Given the description of an element on the screen output the (x, y) to click on. 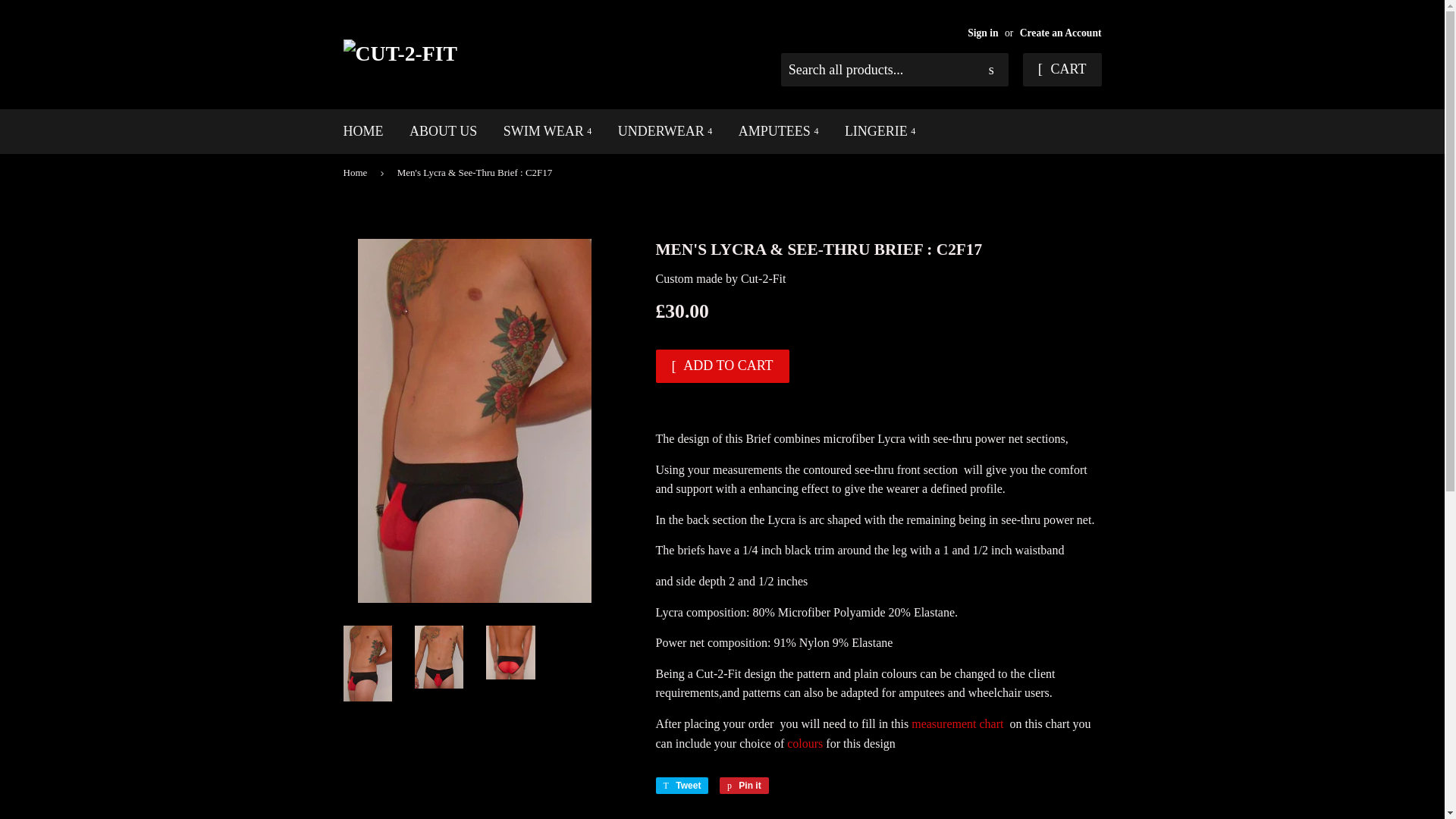
Pin it (743, 785)
Create an Account (1061, 32)
ADD TO CART (722, 366)
Tweet (681, 785)
SWIM WEAR (548, 130)
cut-2-fit measurement chart (957, 723)
LINGERIE (879, 130)
colour-chart-swimwear (804, 743)
colours (804, 743)
measurement chart (957, 723)
UNDERWEAR (665, 130)
CART (1062, 69)
HOME (362, 130)
Sign in (982, 32)
AMPUTEES (777, 130)
